Given the description of an element on the screen output the (x, y) to click on. 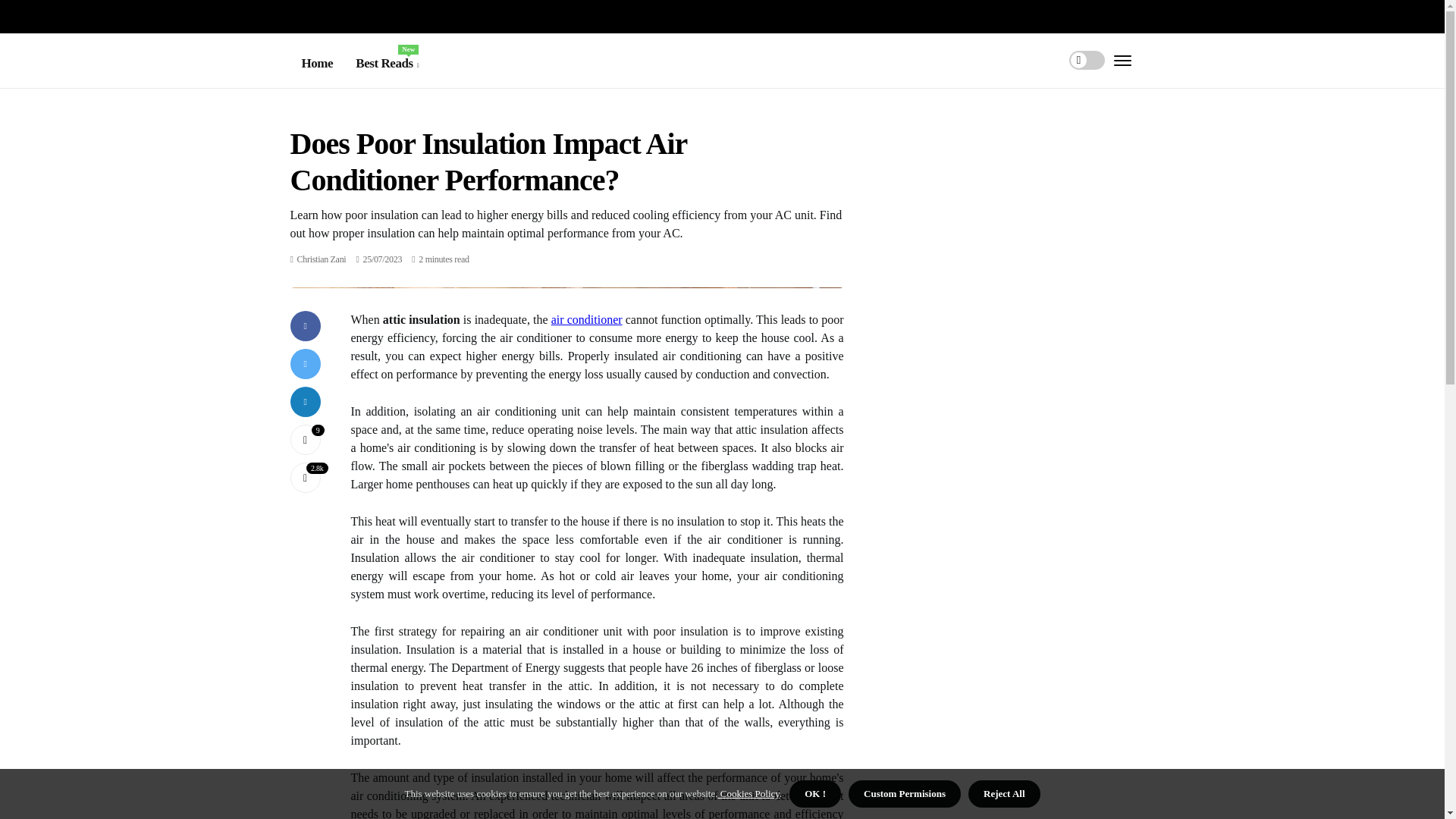
9 (304, 440)
Christian Zani (387, 63)
Like (321, 258)
air conditioner (304, 440)
Posts by Christian Zani (587, 318)
